Given the description of an element on the screen output the (x, y) to click on. 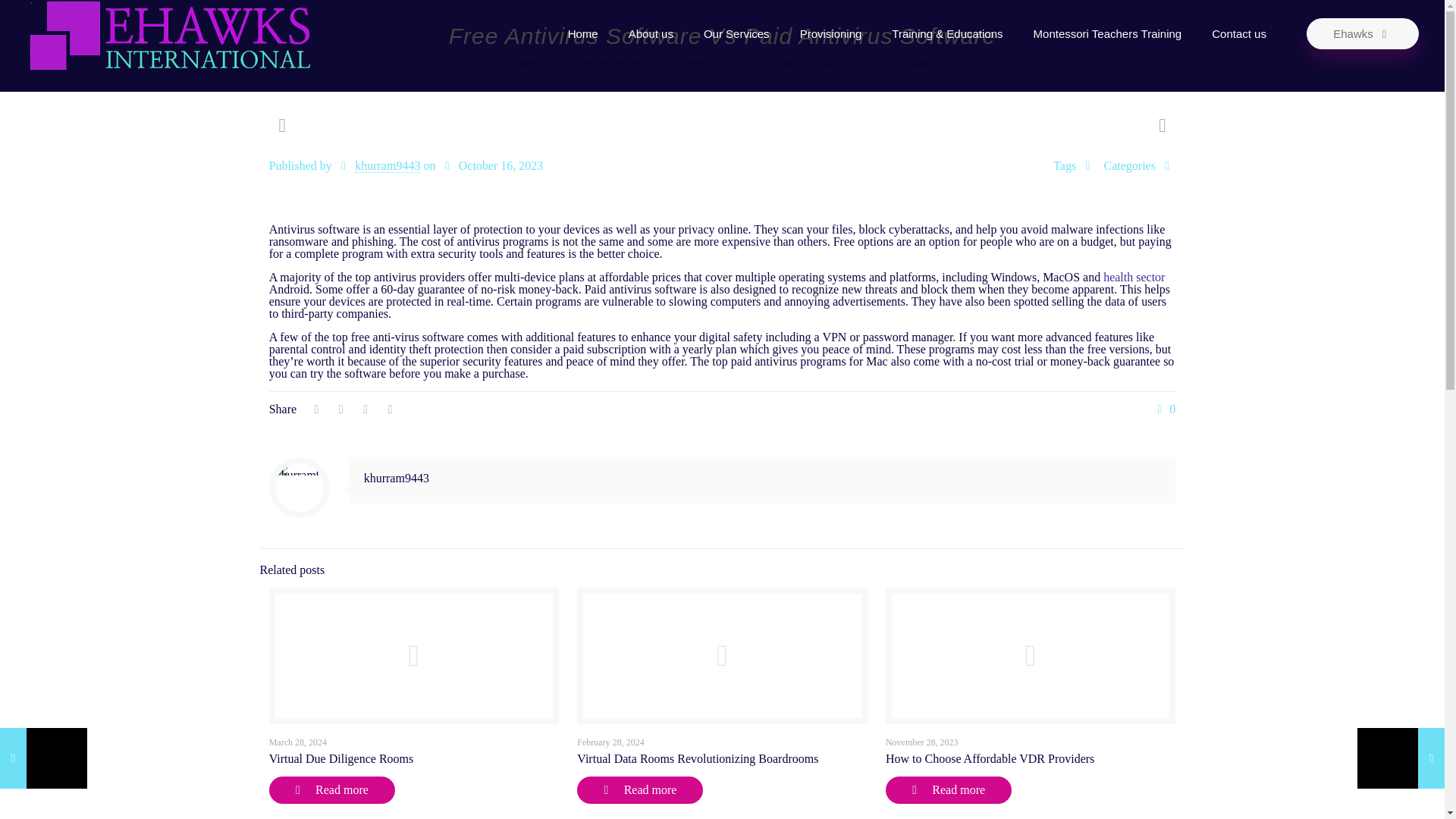
Contact us (1238, 33)
khurram9443 (396, 477)
0 (1162, 409)
Provisioning (830, 33)
Uncategorized (610, 62)
Read more (331, 789)
Read more (948, 789)
Read more (639, 789)
Montessori Teachers Training (1106, 33)
Virtual Data Rooms Revolutionizing Boardrooms (697, 758)
Our Services (736, 33)
khurram9443 (387, 165)
Ehawks (1362, 33)
How to Choose Affordable VDR Providers (989, 758)
Home (582, 33)
